Given the description of an element on the screen output the (x, y) to click on. 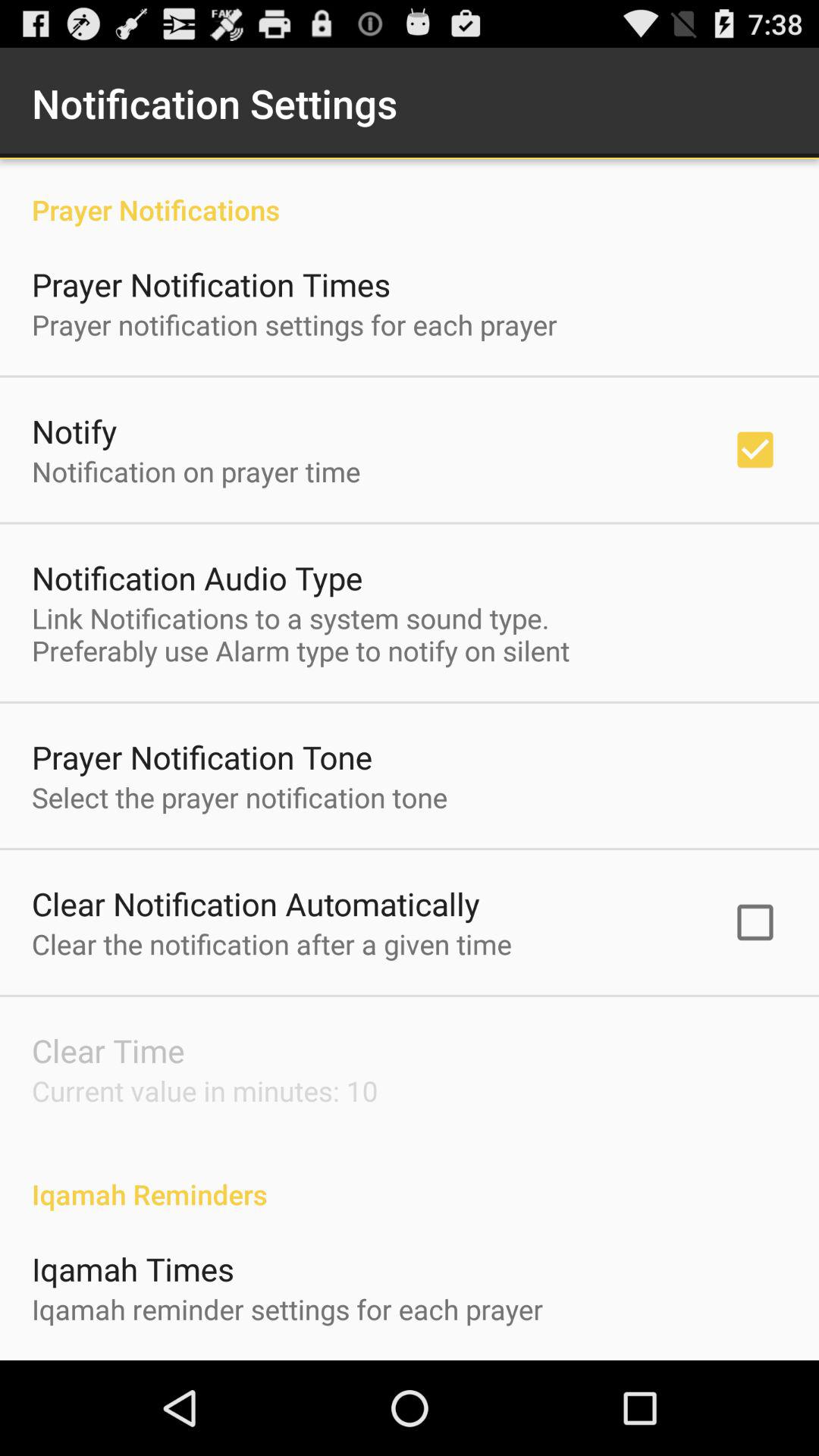
scroll until the select the prayer item (239, 797)
